Given the description of an element on the screen output the (x, y) to click on. 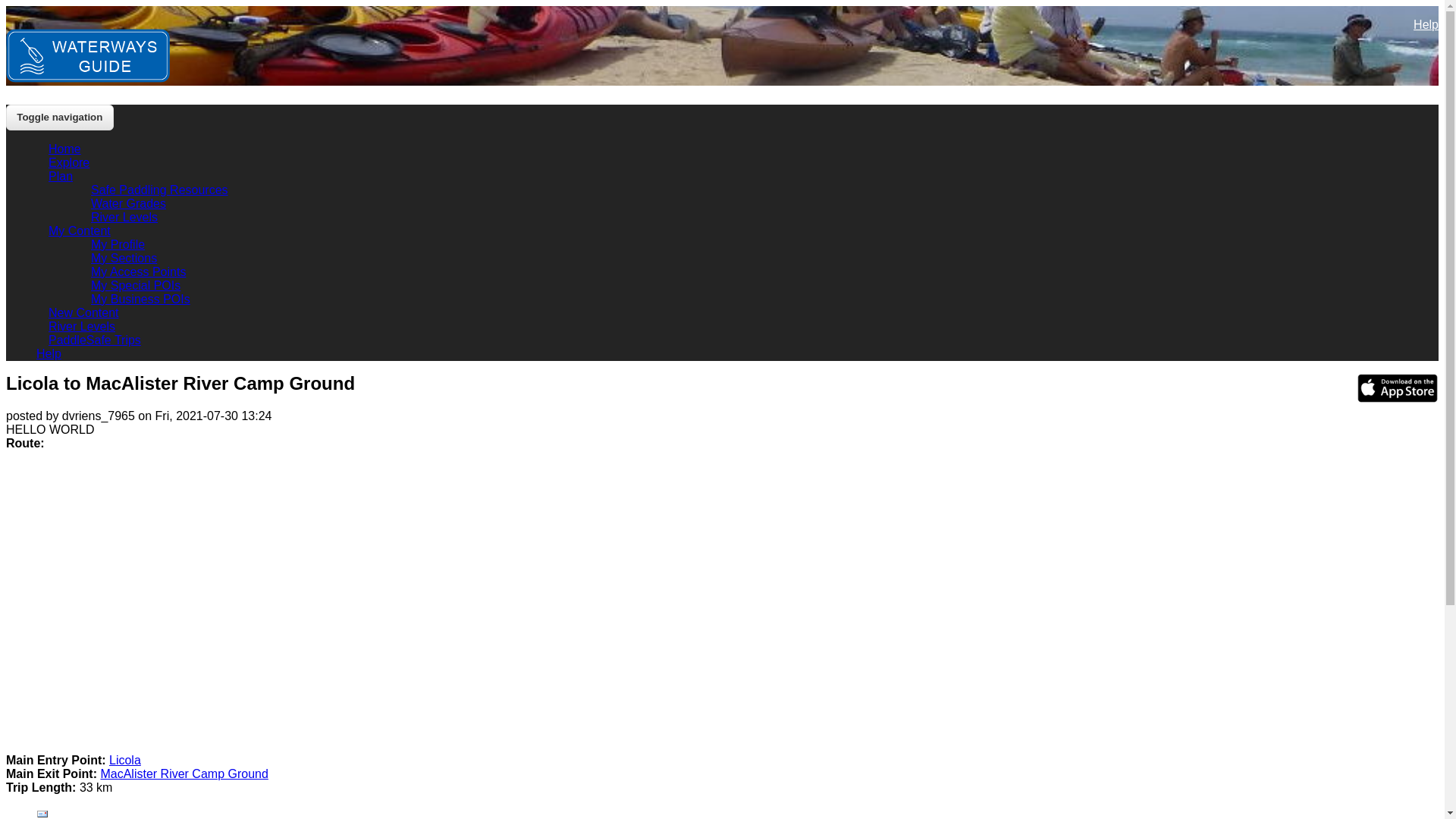
My Access Points Element type: text (138, 271)
Explore Element type: text (68, 162)
River Levels Element type: text (124, 216)
My Sections Element type: text (123, 257)
Help Element type: text (1425, 22)
Water Grades Element type: text (128, 203)
Plan Element type: text (60, 175)
MacAlister River Camp Ground Element type: text (183, 773)
Safe Paddling Resources Element type: text (159, 189)
Help Element type: text (48, 353)
My Business POIs Element type: text (140, 298)
Skip to main content Element type: text (6, 6)
PaddleSafe Trips Element type: text (94, 339)
My Profile Element type: text (117, 244)
New Content Element type: text (83, 312)
Licola Element type: text (125, 759)
Home Element type: text (64, 148)
Home Element type: hover (87, 78)
Download from the iTunes store Element type: hover (1397, 397)
My Special POIs Element type: text (135, 285)
River Levels Element type: text (81, 326)
My Content Element type: text (79, 230)
Toggle navigation Element type: text (59, 117)
